Given the description of an element on the screen output the (x, y) to click on. 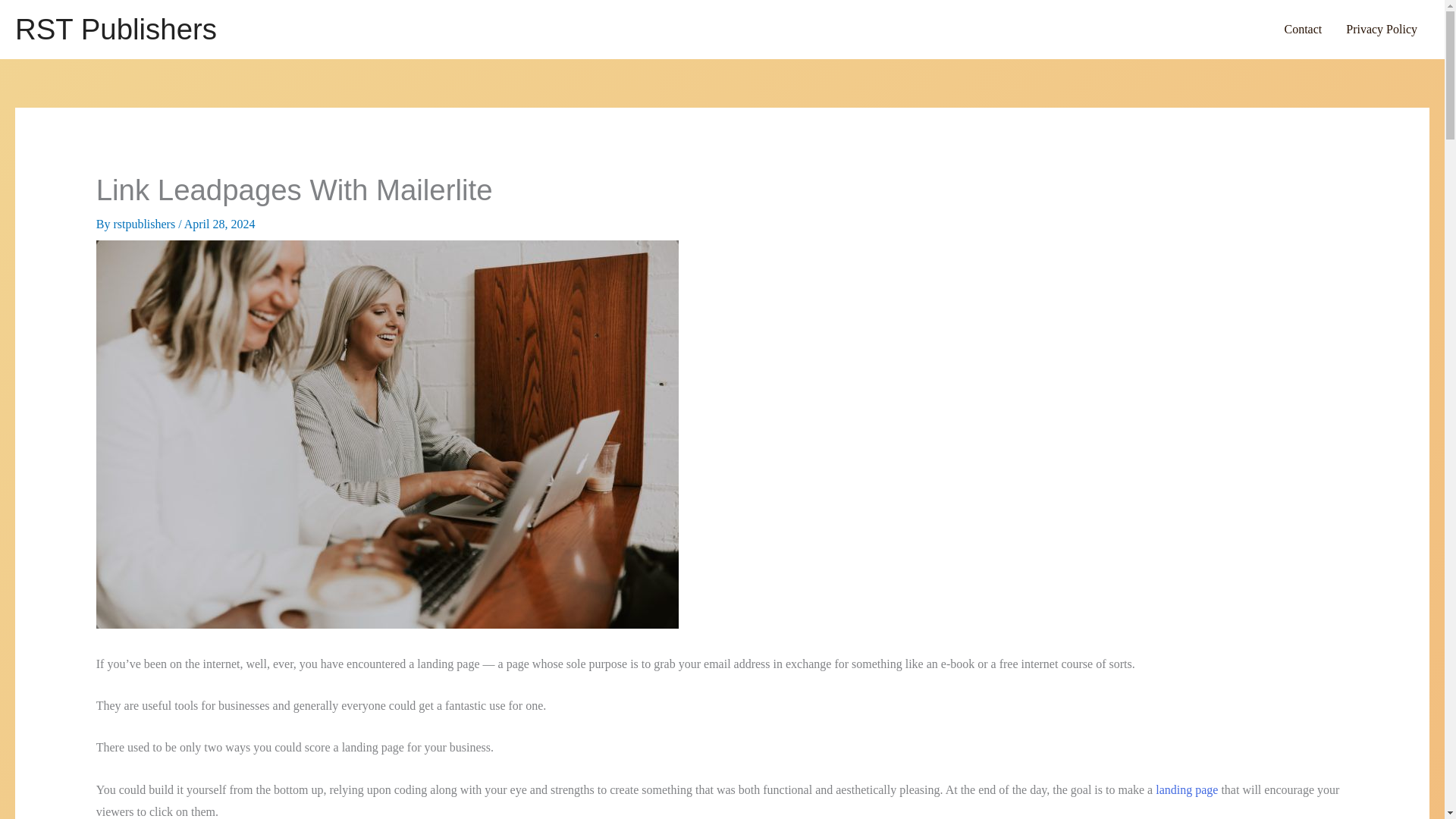
landing page (1186, 789)
View all posts by rstpublishers (145, 223)
rstpublishers (145, 223)
RST Publishers (115, 29)
Contact (1302, 29)
Privacy Policy (1381, 29)
